Given the description of an element on the screen output the (x, y) to click on. 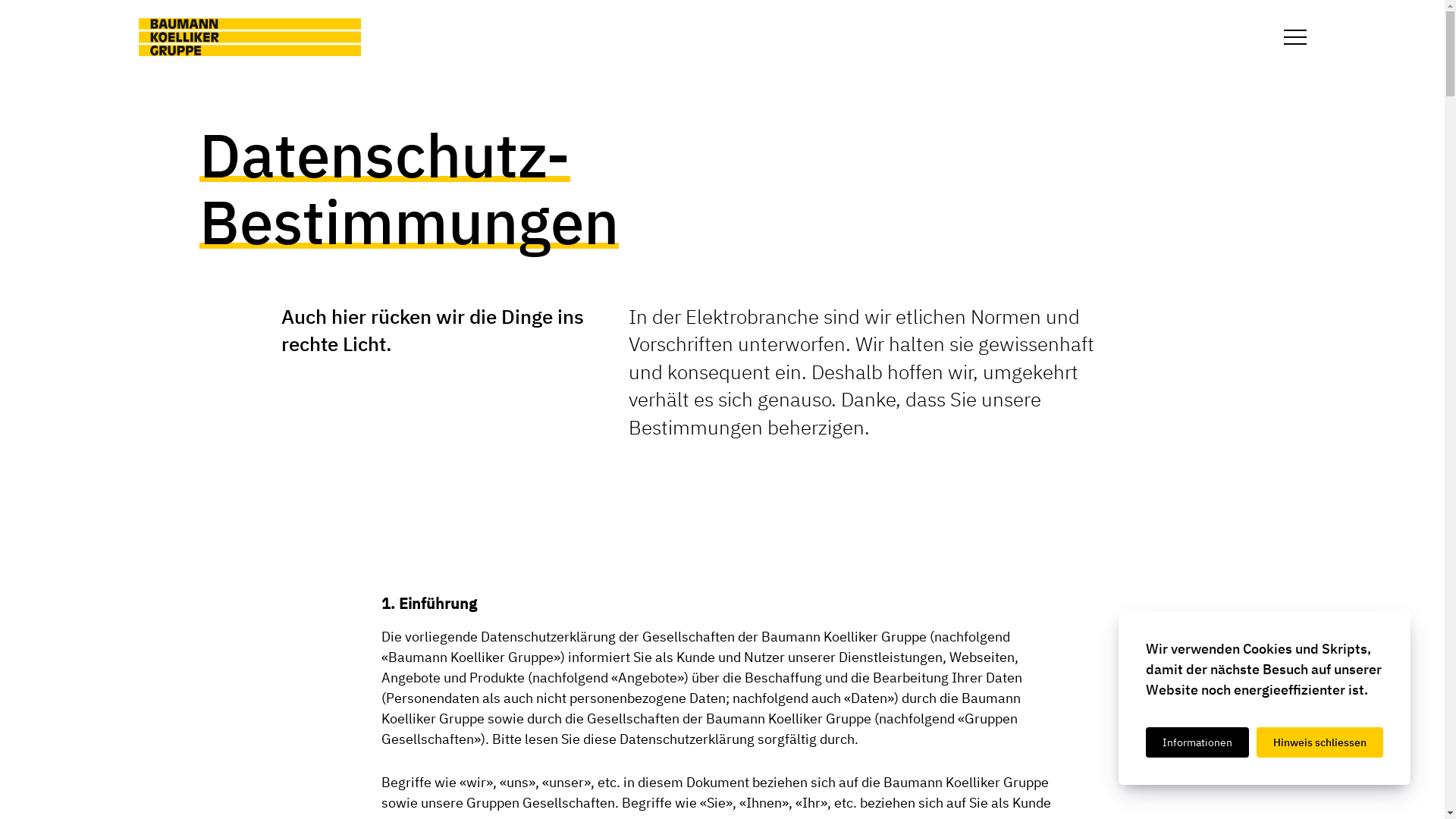
Toggle Menu Element type: text (1295, 36)
Informationen Element type: text (1196, 742)
Hinweis schliessen Element type: text (1319, 742)
